Given the description of an element on the screen output the (x, y) to click on. 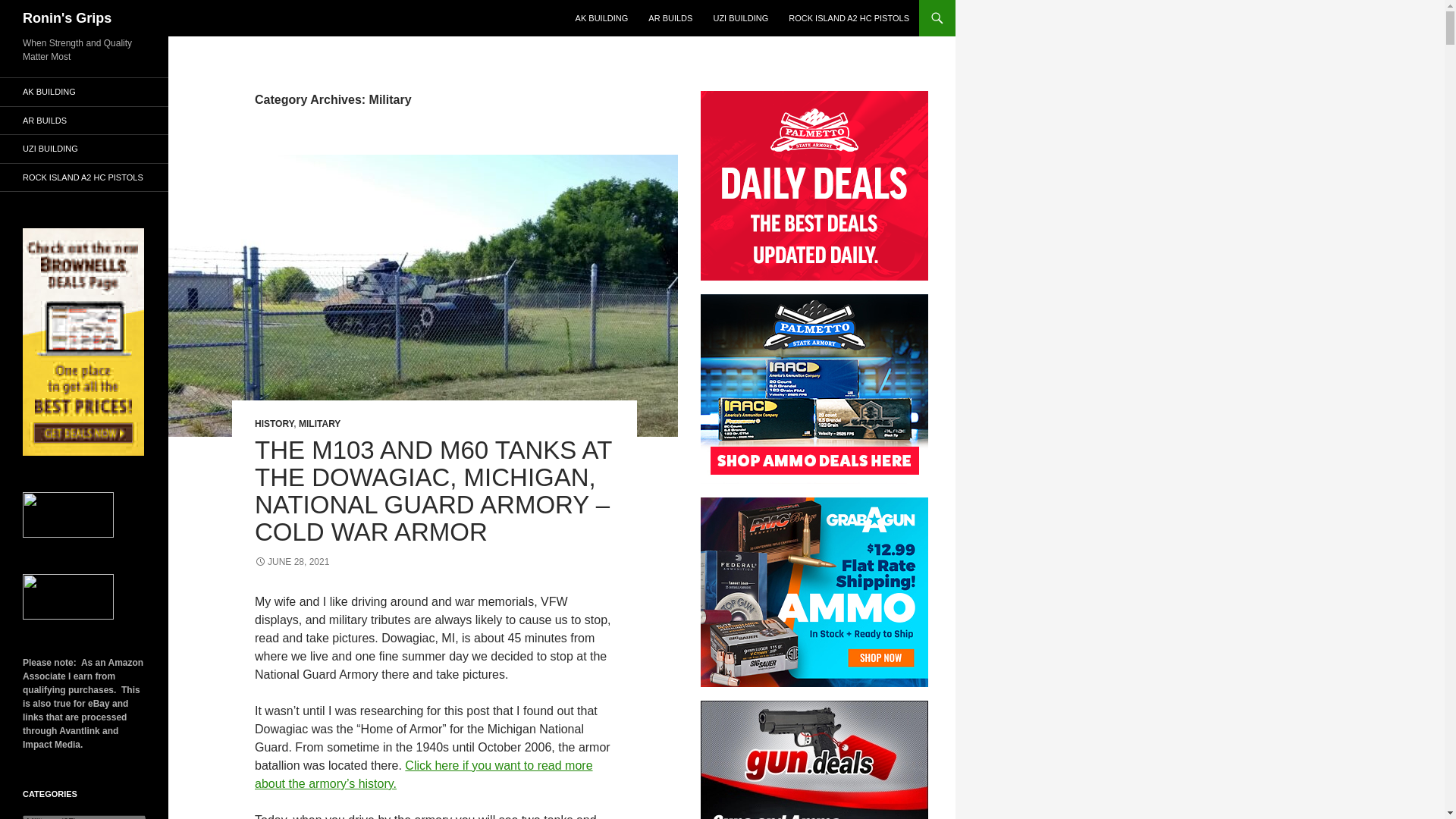
UZI BUILDING (740, 18)
AK BUILDING (601, 18)
MILITARY (319, 423)
HISTORY (274, 423)
Ronin's Grips (67, 18)
JUNE 28, 2021 (291, 561)
ROCK ISLAND A2 HC PISTOLS (848, 18)
AR BUILDS (670, 18)
